Given the description of an element on the screen output the (x, y) to click on. 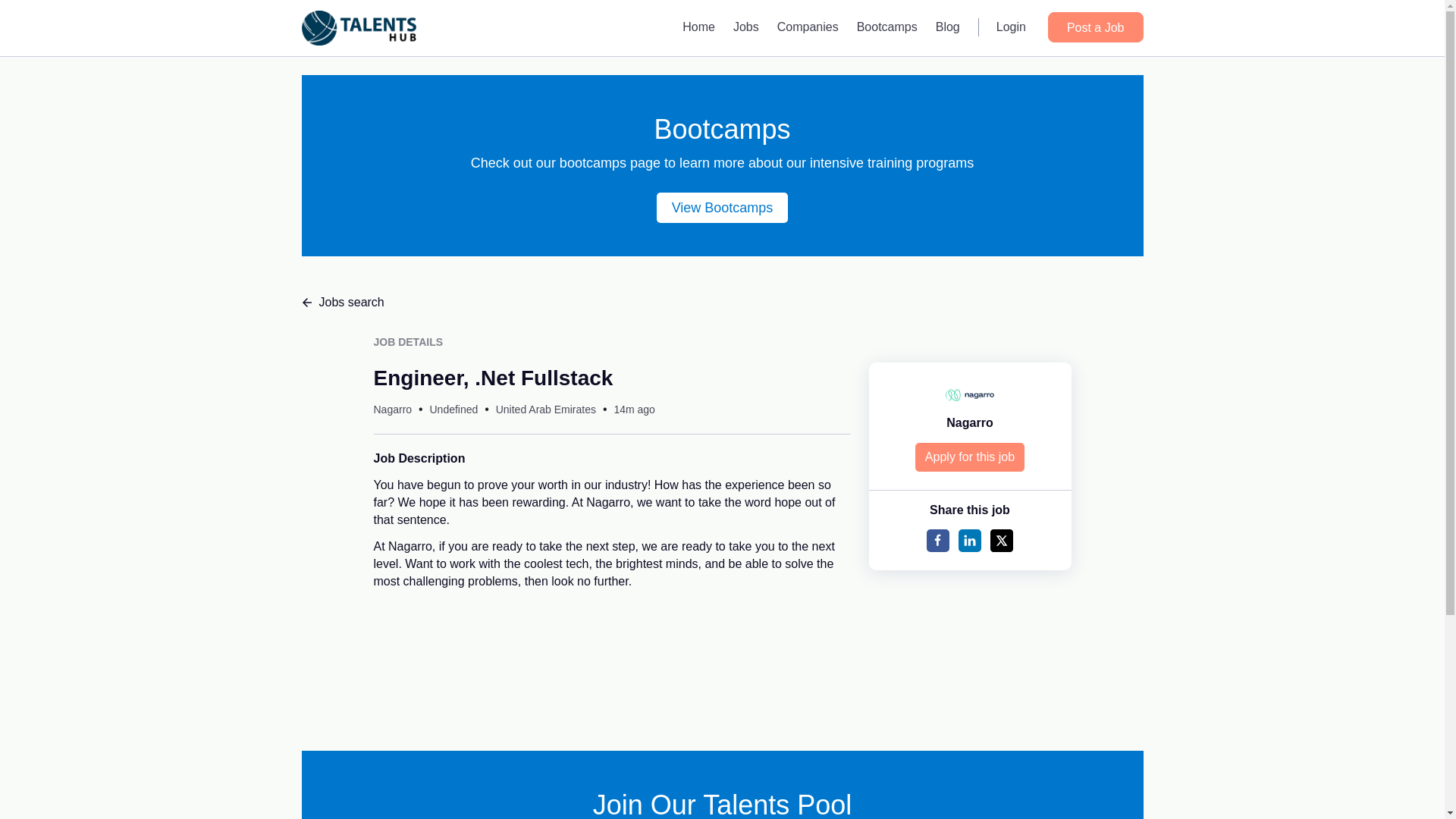
Nagarro (969, 422)
Share to FB (937, 540)
Blog (947, 26)
Bootcamps (886, 26)
Nagarro (392, 409)
Apply for this job (970, 457)
Login (1011, 26)
Share to Linkedin (969, 540)
Jobs search (721, 302)
Share to Twitter (1001, 540)
Undefined (453, 409)
United Arab Emirates (545, 409)
Jobs (745, 26)
Post a Job (1095, 27)
Home (697, 26)
